Given the description of an element on the screen output the (x, y) to click on. 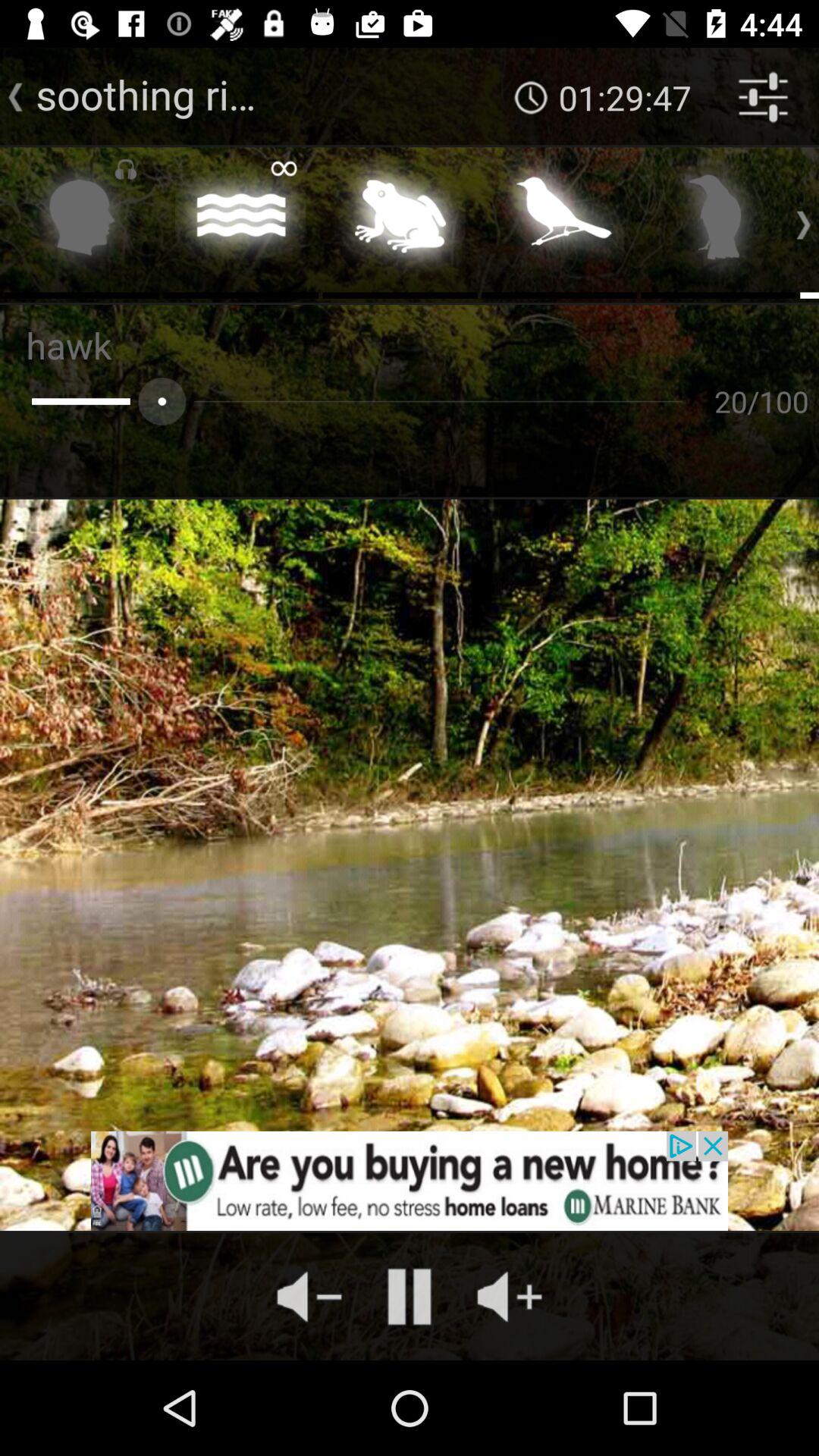
add bird (718, 221)
